Given the description of an element on the screen output the (x, y) to click on. 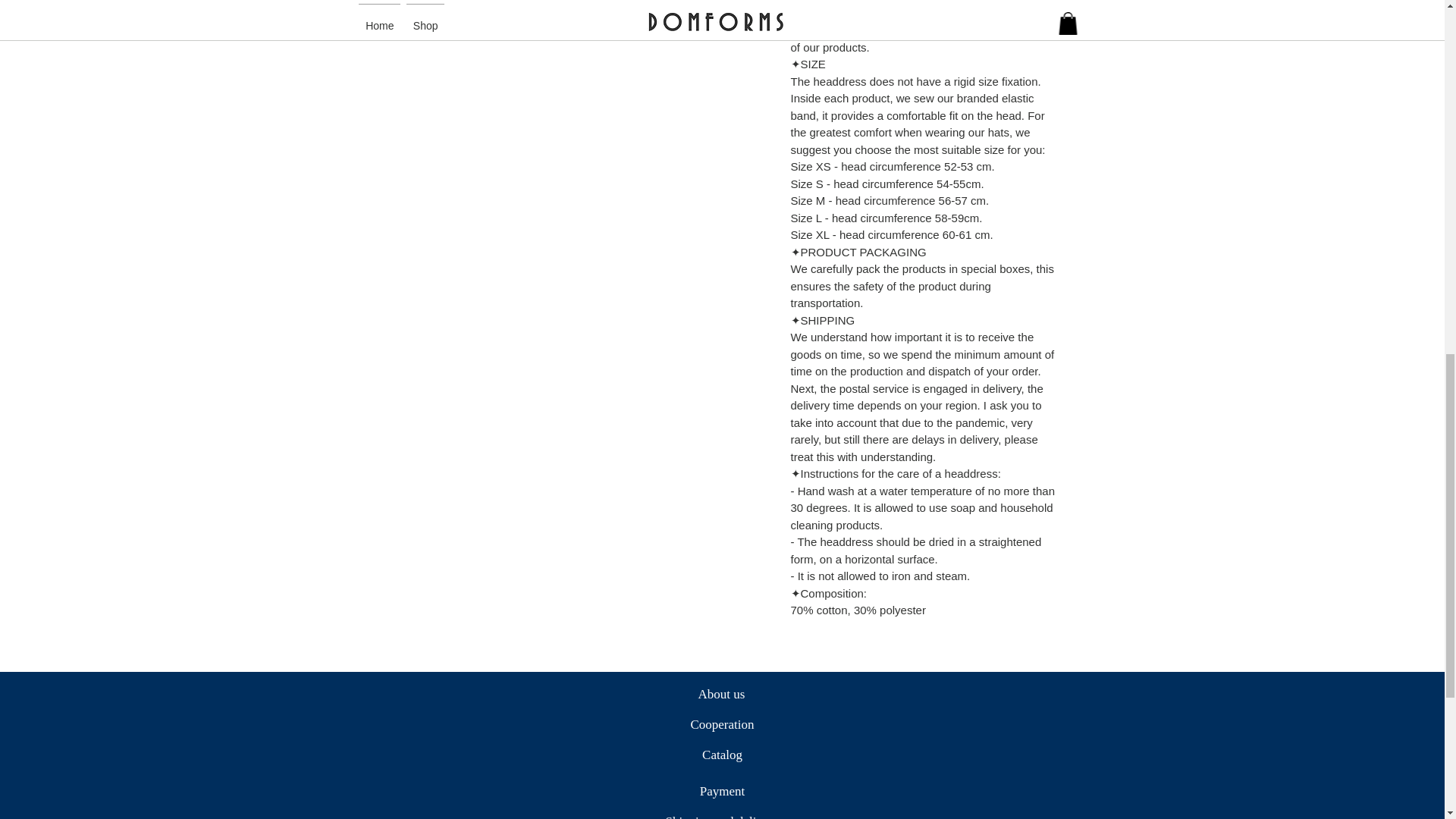
About us (720, 694)
Cooperation (722, 725)
Payment (721, 791)
Catalog (722, 755)
Shipping and delivery (721, 812)
